Given the description of an element on the screen output the (x, y) to click on. 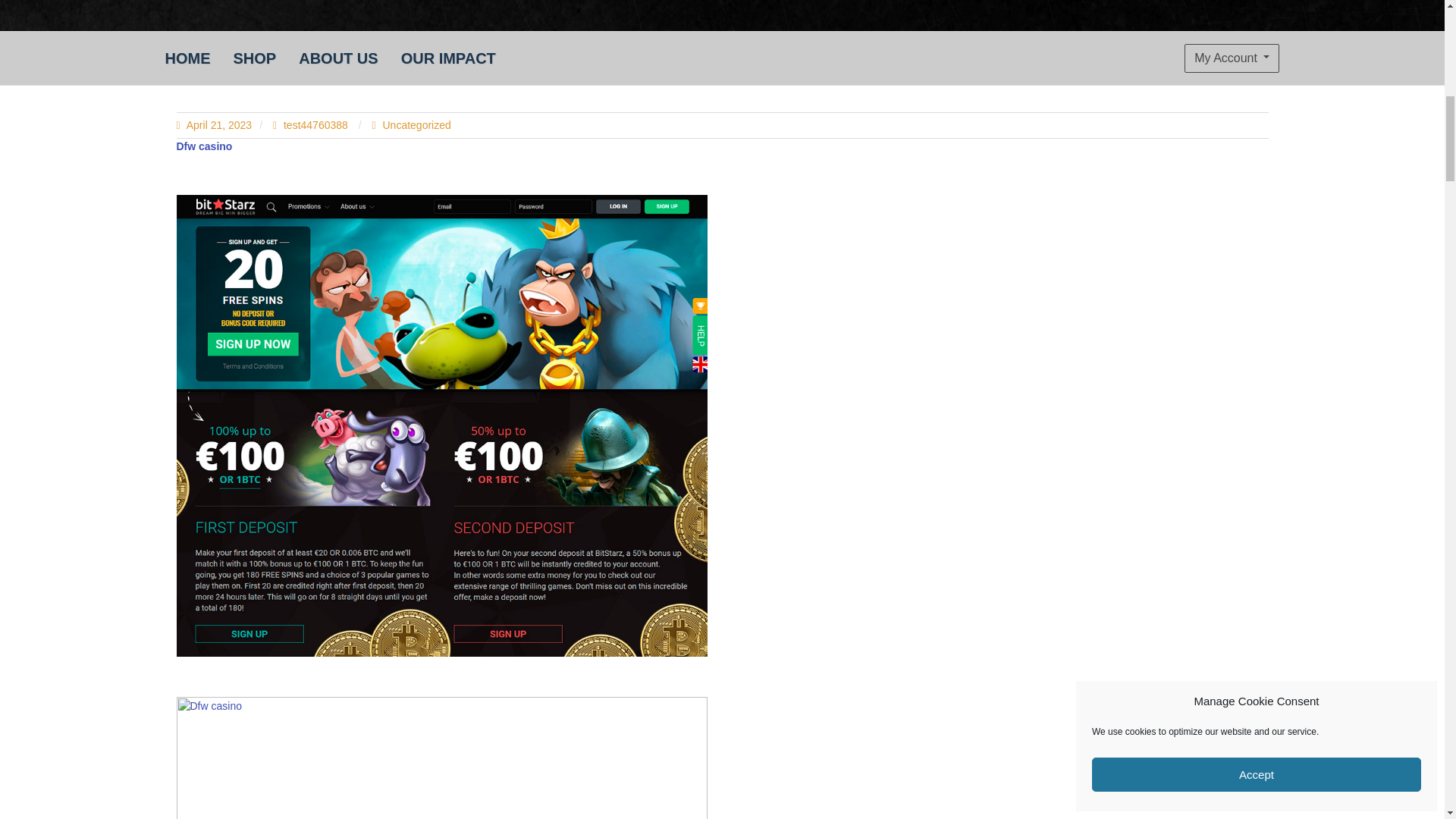
April 21, 2023 (213, 123)
My Account (1232, 58)
SHOP (253, 57)
Uncategorized (415, 123)
test44760388 (311, 123)
Dfw casino (203, 145)
Dfw casino (441, 757)
OUR IMPACT (448, 57)
ABOUT US (337, 57)
HOME (186, 57)
